Given the description of an element on the screen output the (x, y) to click on. 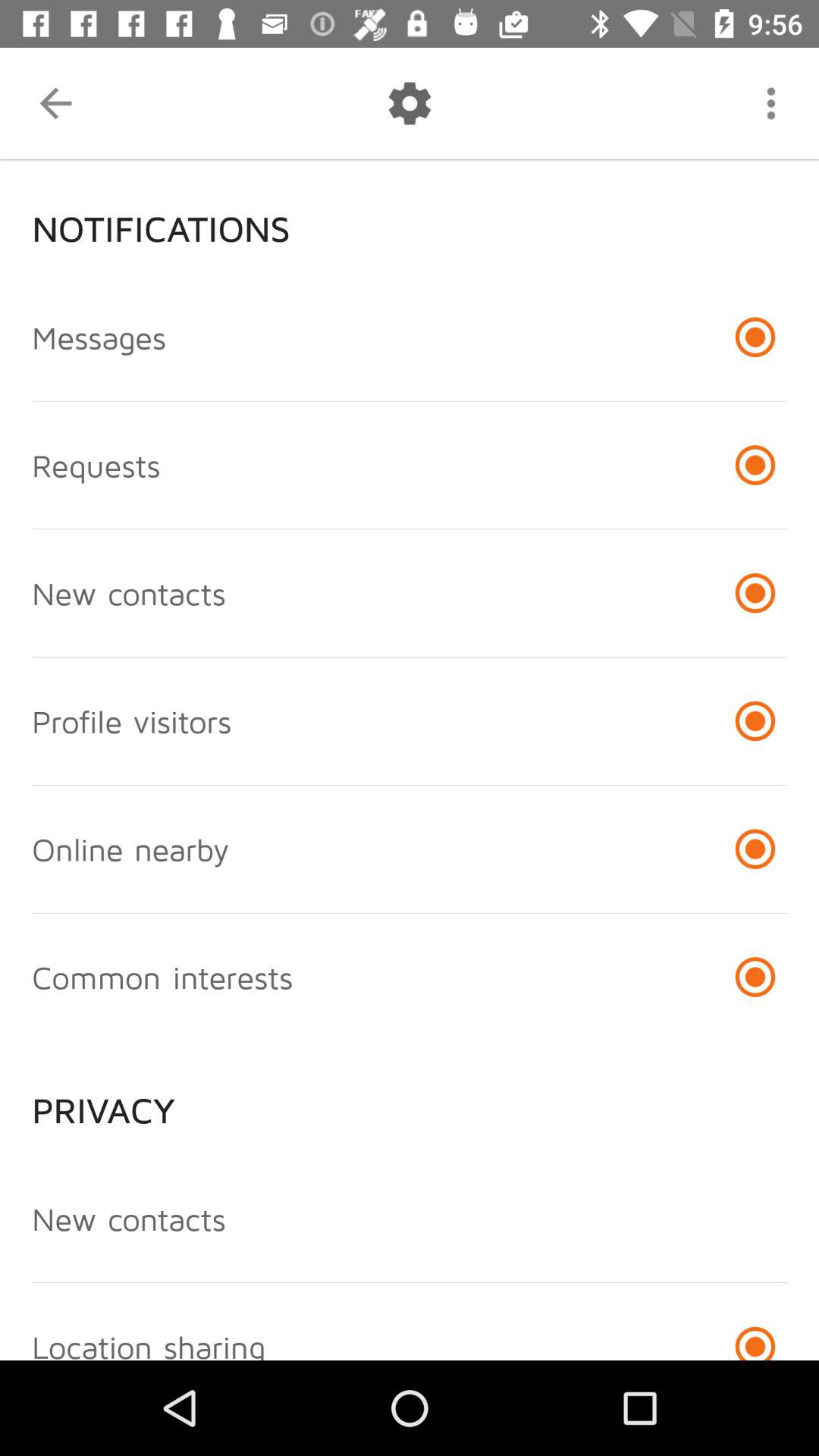
turn off the privacy (409, 1097)
